Given the description of an element on the screen output the (x, y) to click on. 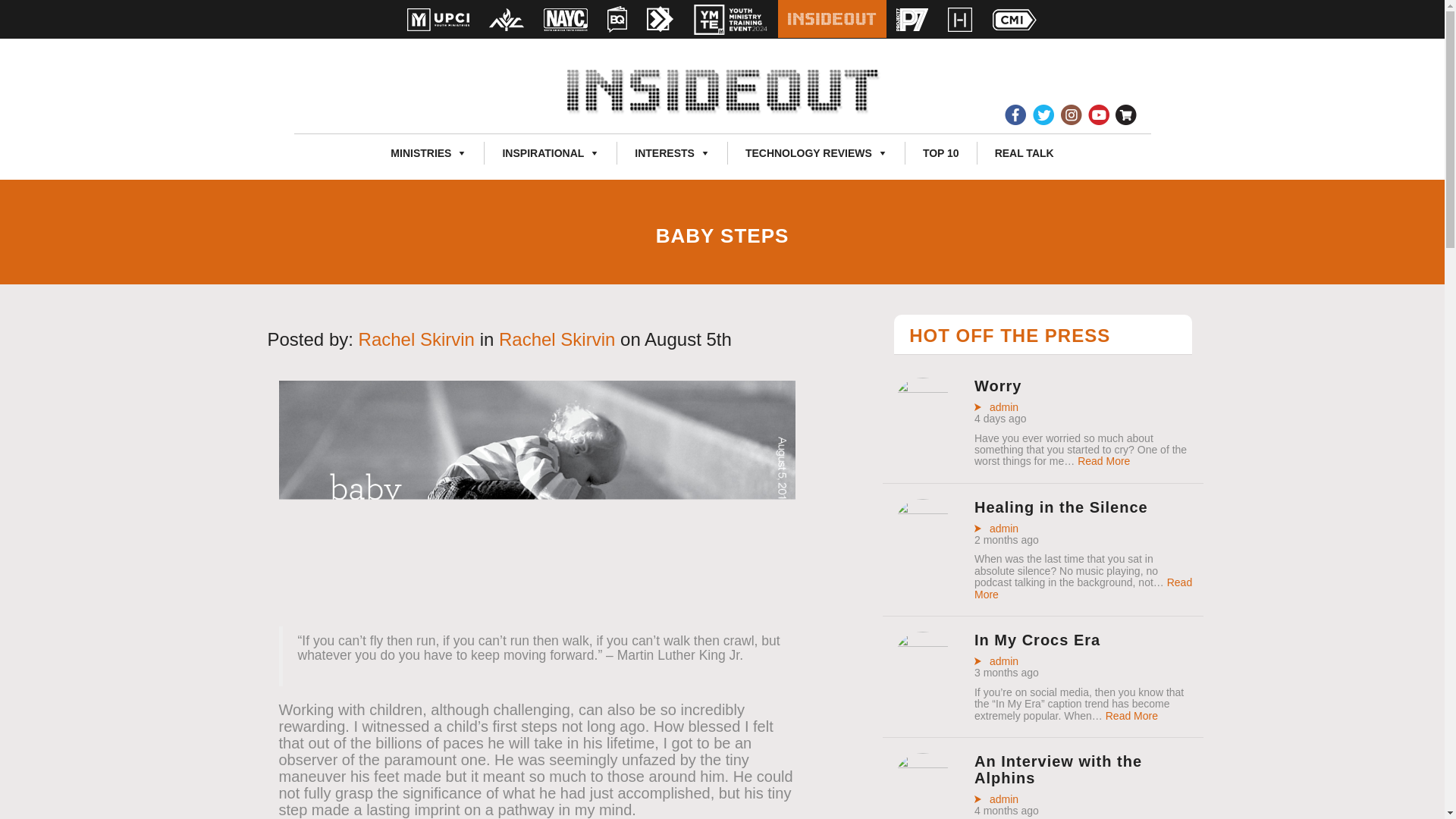
UPCIYM Store (1126, 115)
TECHNOLOGY REVIEWS (816, 152)
Facebook (1014, 115)
Posts by Rachel Skirvin (416, 339)
An Interview with the Alphins (922, 802)
Twitter (1042, 115)
Instagram (1070, 115)
Posts by admin (995, 661)
YouTube (1099, 115)
Twitter (1042, 115)
Posts by admin (995, 407)
MINISTRIES (427, 152)
Instagram (1070, 115)
In My Crocs Era (922, 680)
Store (1126, 115)
